Given the description of an element on the screen output the (x, y) to click on. 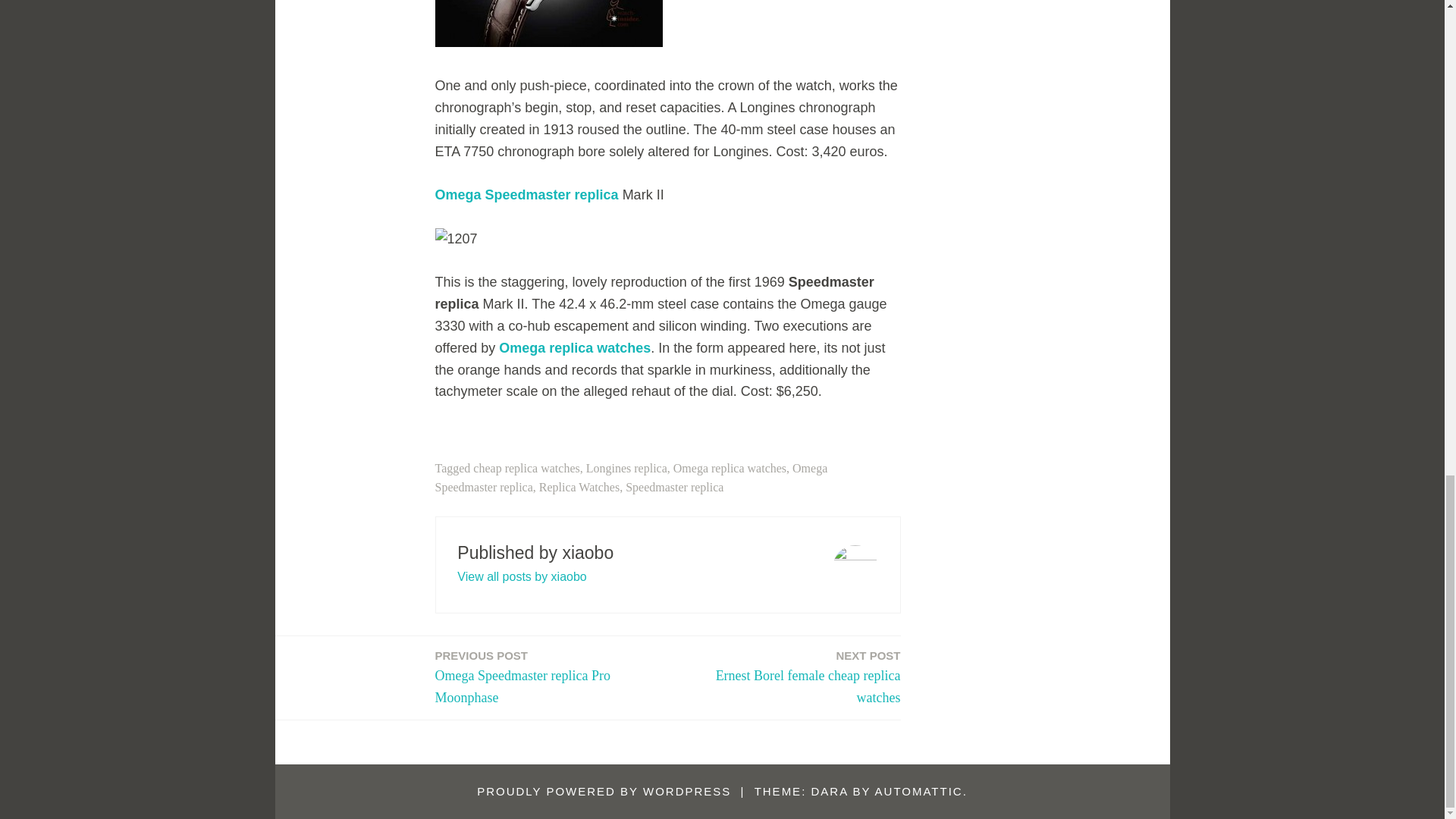
Omega Speedmaster replica (526, 194)
Speedmaster replica (674, 486)
cheap replica watches (789, 678)
Omega replica watches (526, 468)
Omega Speedmaster replica (729, 468)
Replica Watches (631, 477)
Longines replica (579, 486)
View all posts by xiaobo (626, 468)
Omega replica watches (521, 576)
